Given the description of an element on the screen output the (x, y) to click on. 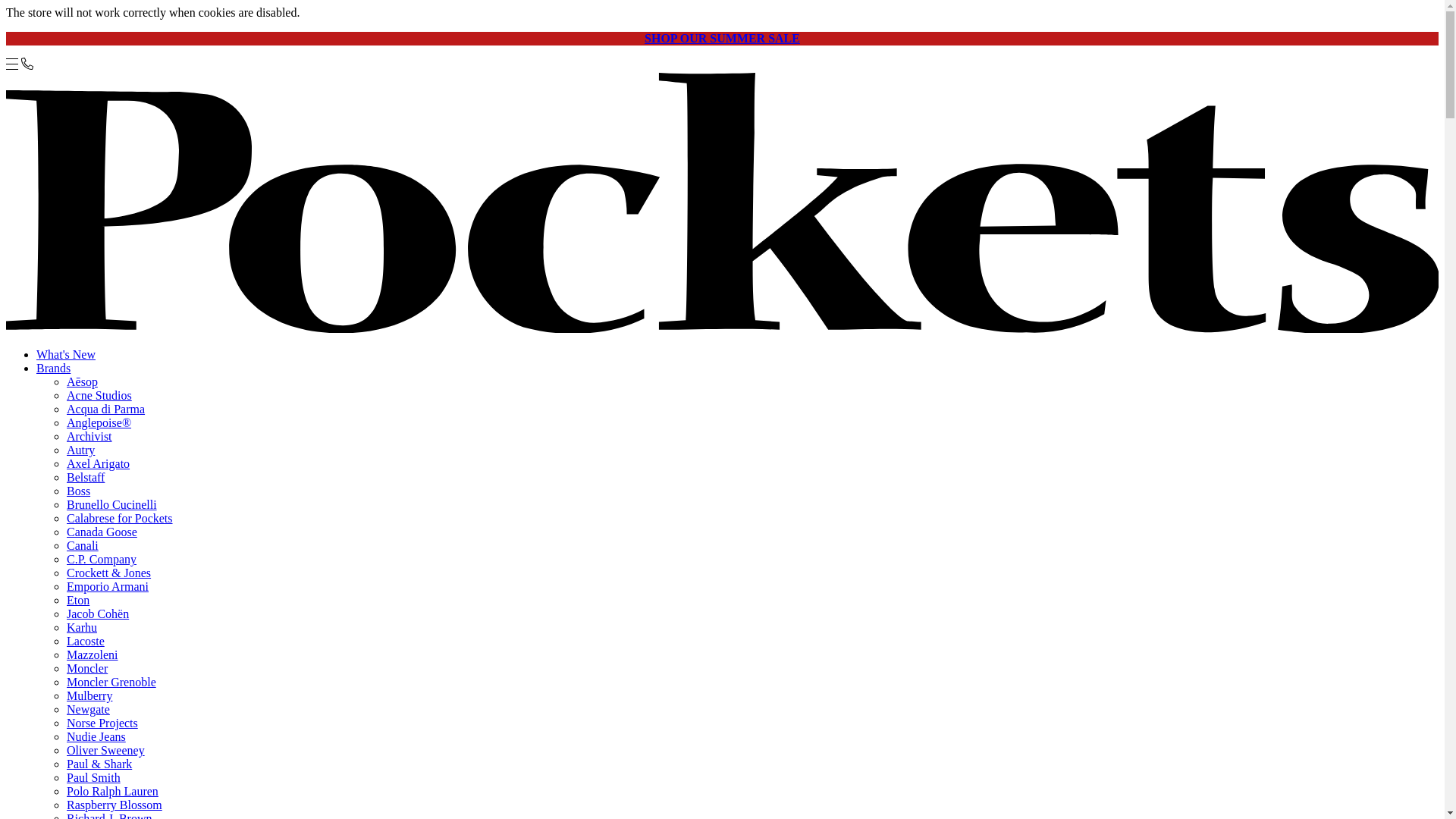
Moncler Grenoble (110, 681)
Norse Projects (102, 722)
Moncler (86, 667)
Oliver Sweeney (105, 749)
Boss (78, 490)
Acne Studios (99, 395)
Archivist  (89, 436)
Brands (52, 367)
Canada Goose (101, 531)
Emporio Armani (107, 585)
Acqua di Parma (105, 408)
What's New (66, 354)
Autry (80, 449)
Lacoste (85, 640)
Brands (52, 367)
